Given the description of an element on the screen output the (x, y) to click on. 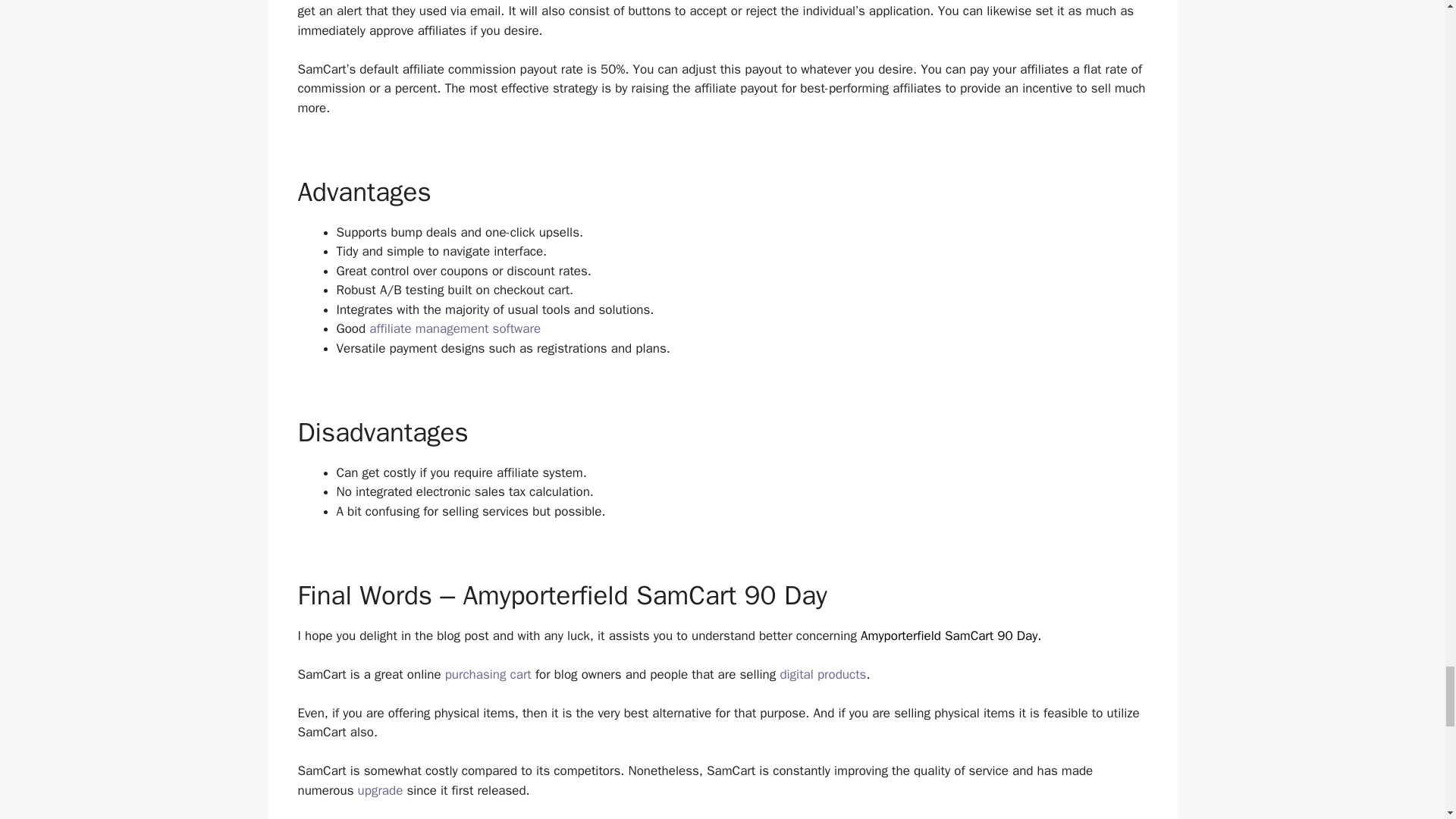
purchasing cart (488, 674)
affiliate management software (454, 328)
